Given the description of an element on the screen output the (x, y) to click on. 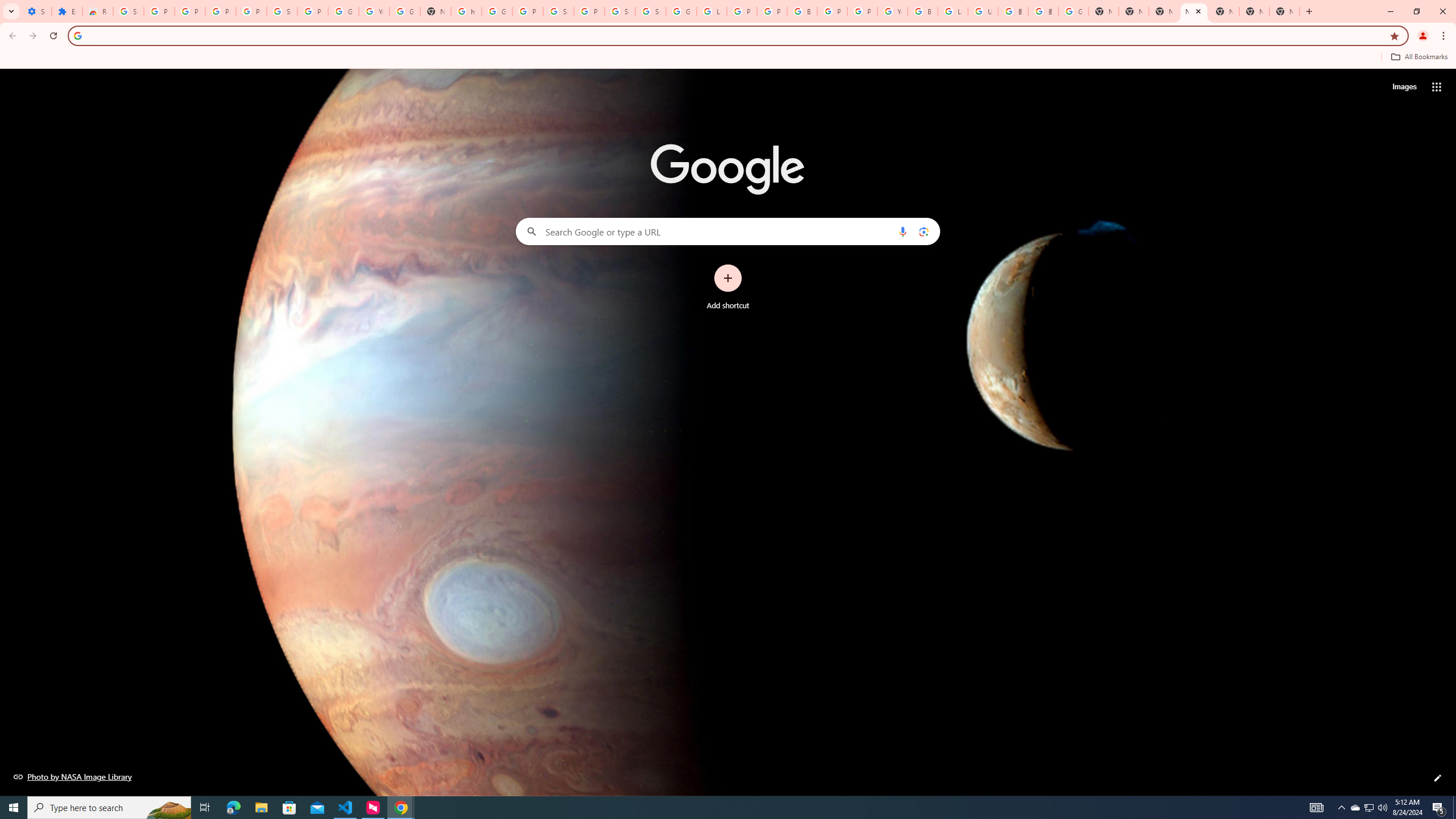
Settings - On startup (36, 11)
Customize this page (1437, 778)
Add shortcut (727, 287)
YouTube (892, 11)
